Given the description of an element on the screen output the (x, y) to click on. 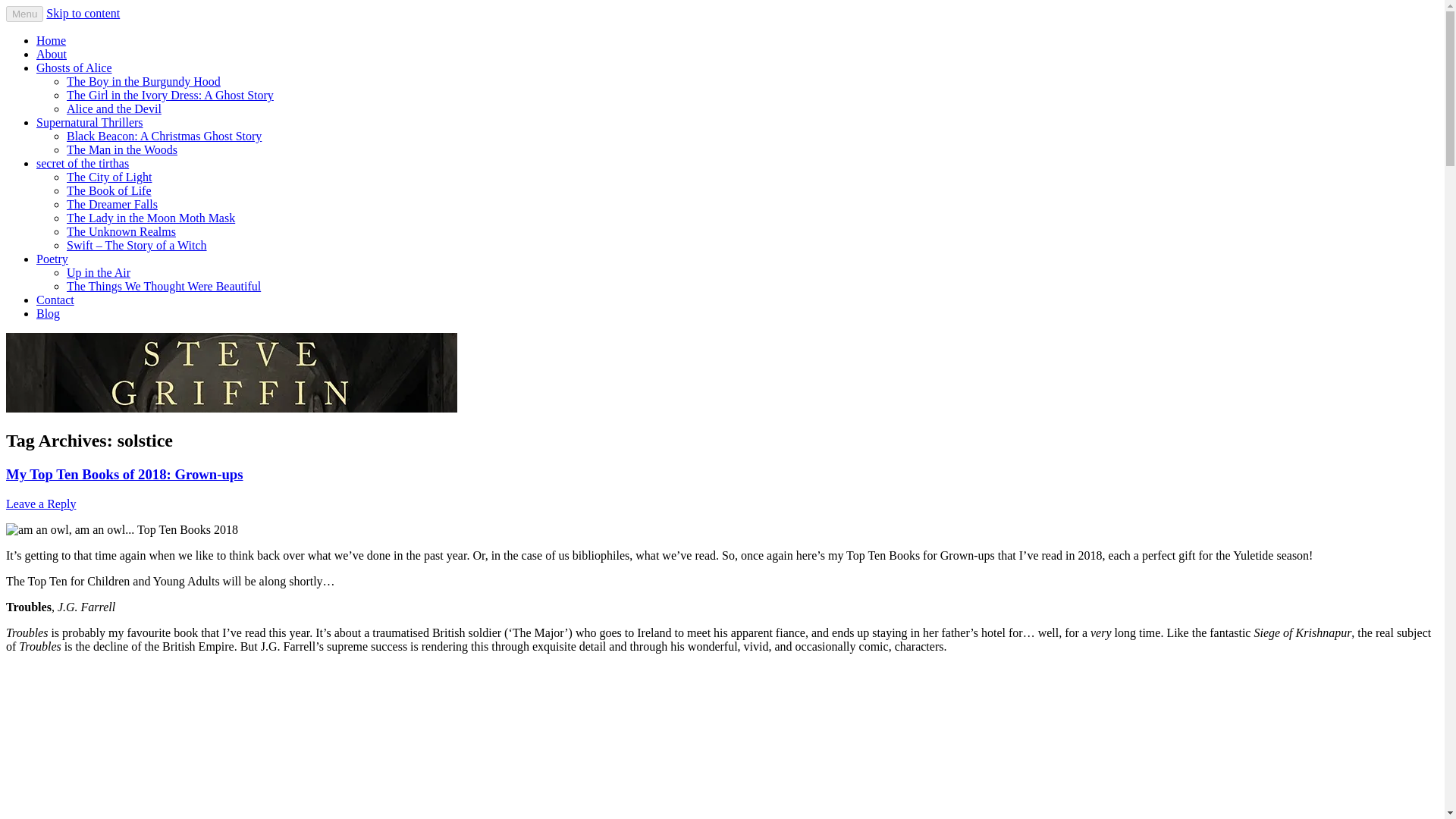
Leave a Reply (40, 503)
Home (50, 40)
Up in the Air (98, 272)
The Boy in the Burgundy Hood (143, 81)
The Unknown Realms (121, 231)
Poetry (52, 258)
The Lady in the Moon Moth Mask (150, 217)
The Man in the Woods (121, 149)
Supernatural Thrillers (89, 122)
Blog (47, 313)
